Given the description of an element on the screen output the (x, y) to click on. 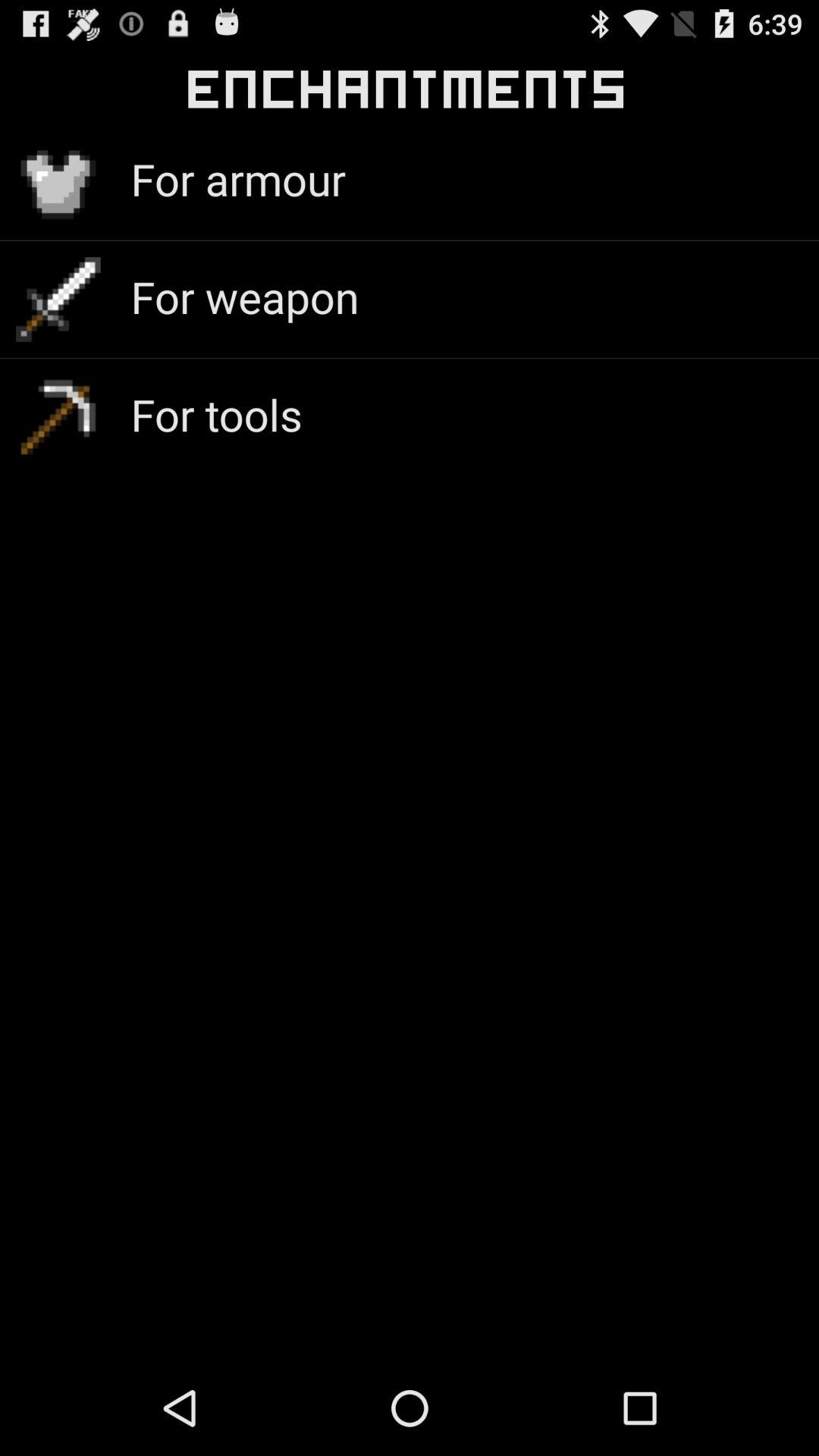
select app above the for tools icon (244, 296)
